Given the description of an element on the screen output the (x, y) to click on. 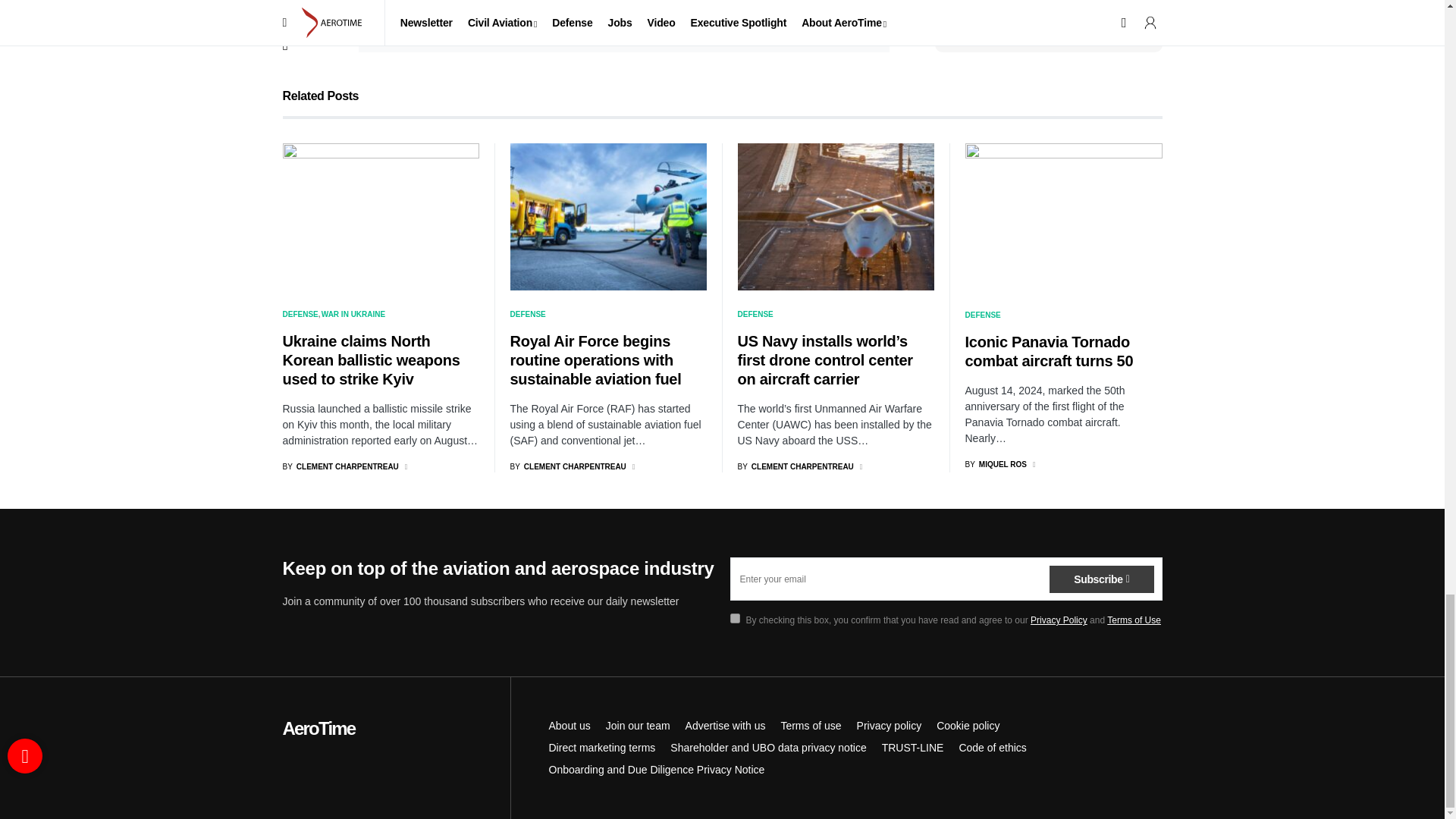
View all posts by Clement Charpentreau (339, 466)
on (734, 618)
View all posts by Clement Charpentreau (567, 466)
on (392, 13)
View all posts by Miquel Ros (994, 464)
View all posts by Clement Charpentreau (794, 466)
